Given the description of an element on the screen output the (x, y) to click on. 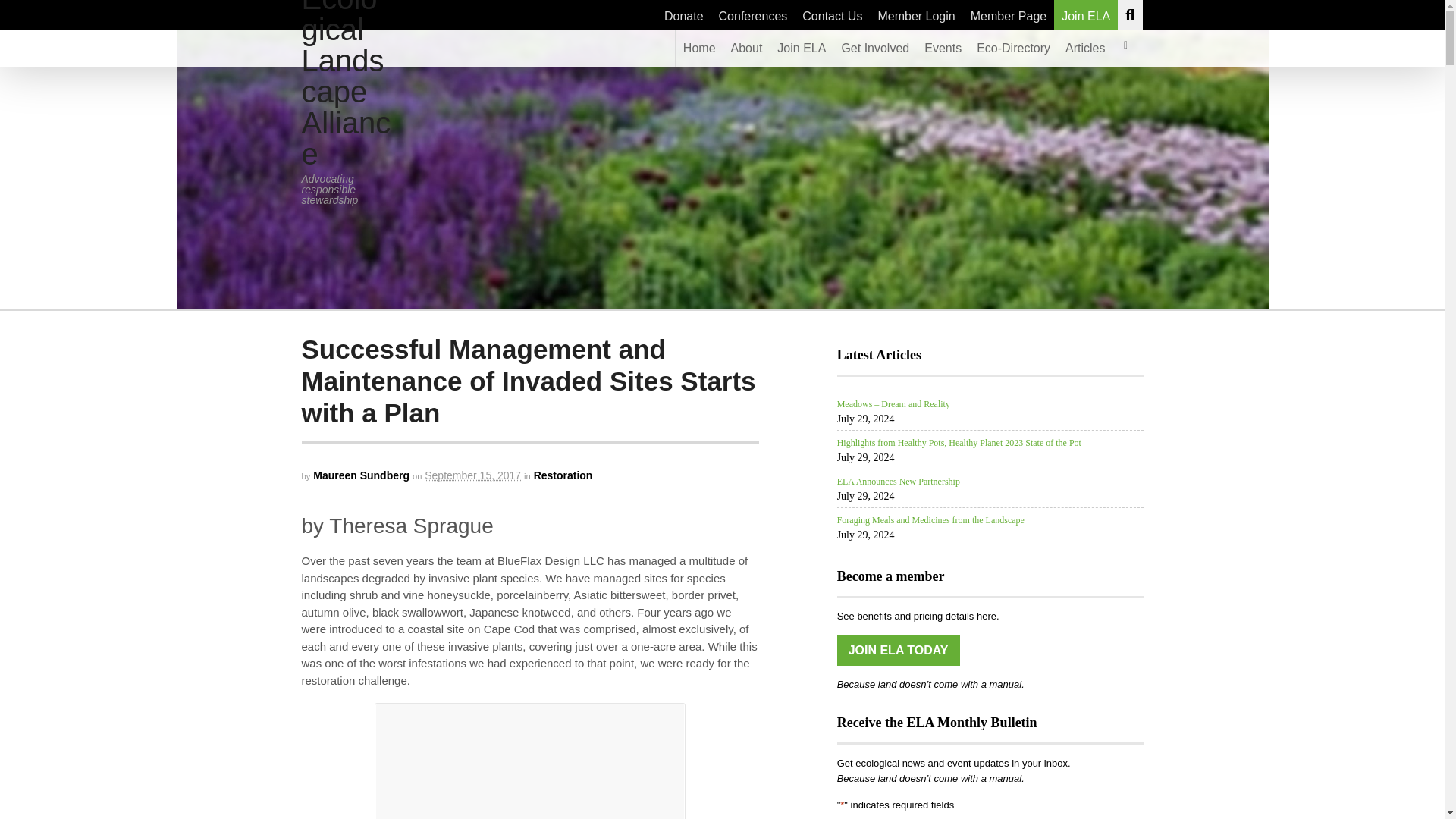
Member Page (1008, 15)
Join ELA (1086, 15)
About (746, 48)
Posts by Maureen Sundberg (361, 475)
Donate (683, 15)
View all items in Restoration (563, 475)
Member Login (915, 15)
Conferences (752, 15)
2017-09-15T10:32:09-0400 (473, 475)
Join ELA (801, 48)
View your shopping cart (1124, 48)
Get Involved (874, 48)
Events (943, 48)
Contact Us (831, 15)
Home (699, 48)
